Given the description of an element on the screen output the (x, y) to click on. 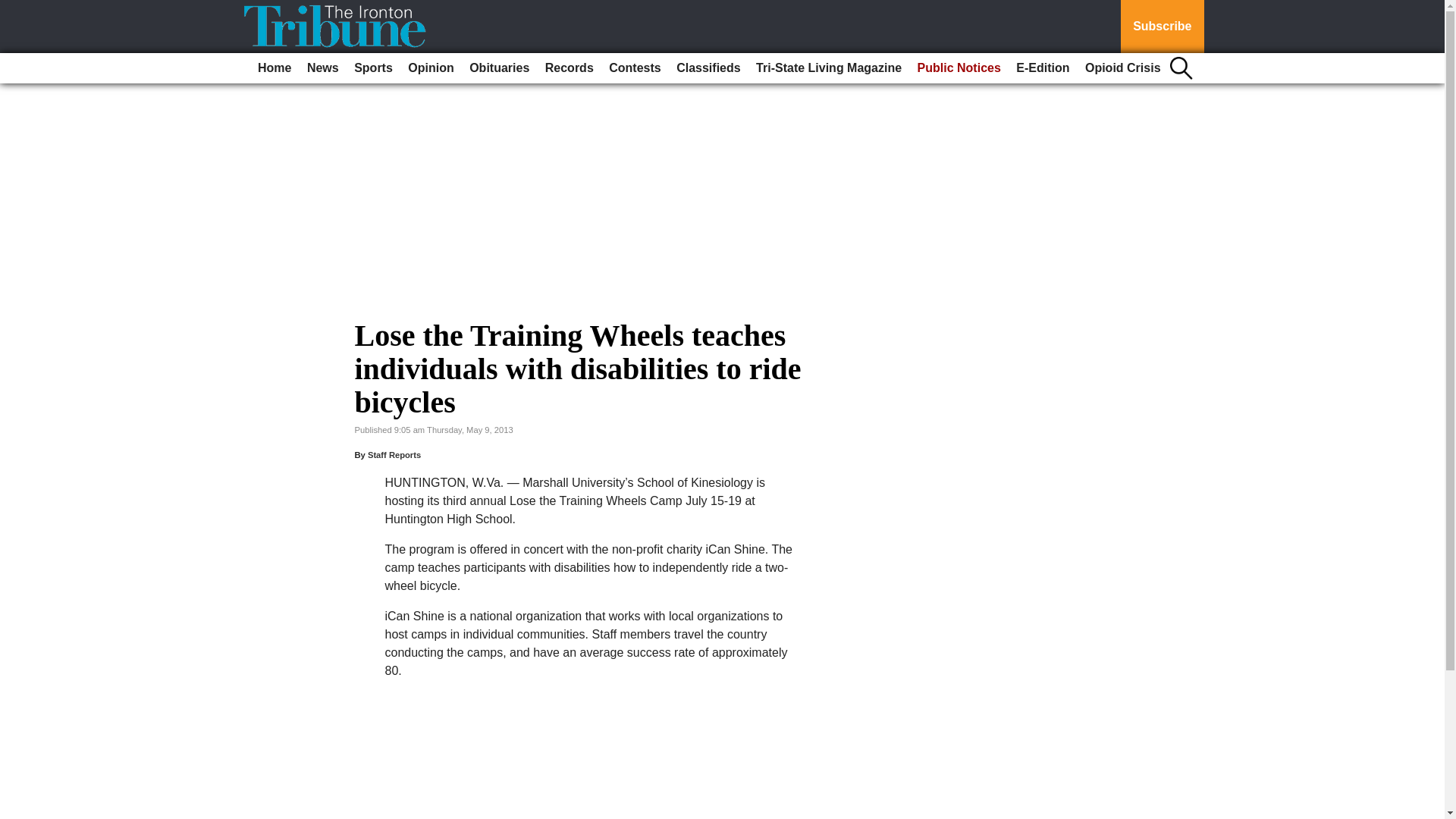
Subscribe (1162, 26)
Obituaries (499, 68)
Records (568, 68)
News (323, 68)
Staff Reports (394, 454)
Go (13, 9)
Sports (372, 68)
Public Notices (959, 68)
Opioid Crisis (1122, 68)
E-Edition (1042, 68)
Tri-State Living Magazine (828, 68)
Opinion (430, 68)
Classifieds (707, 68)
Home (274, 68)
Contests (634, 68)
